Given the description of an element on the screen output the (x, y) to click on. 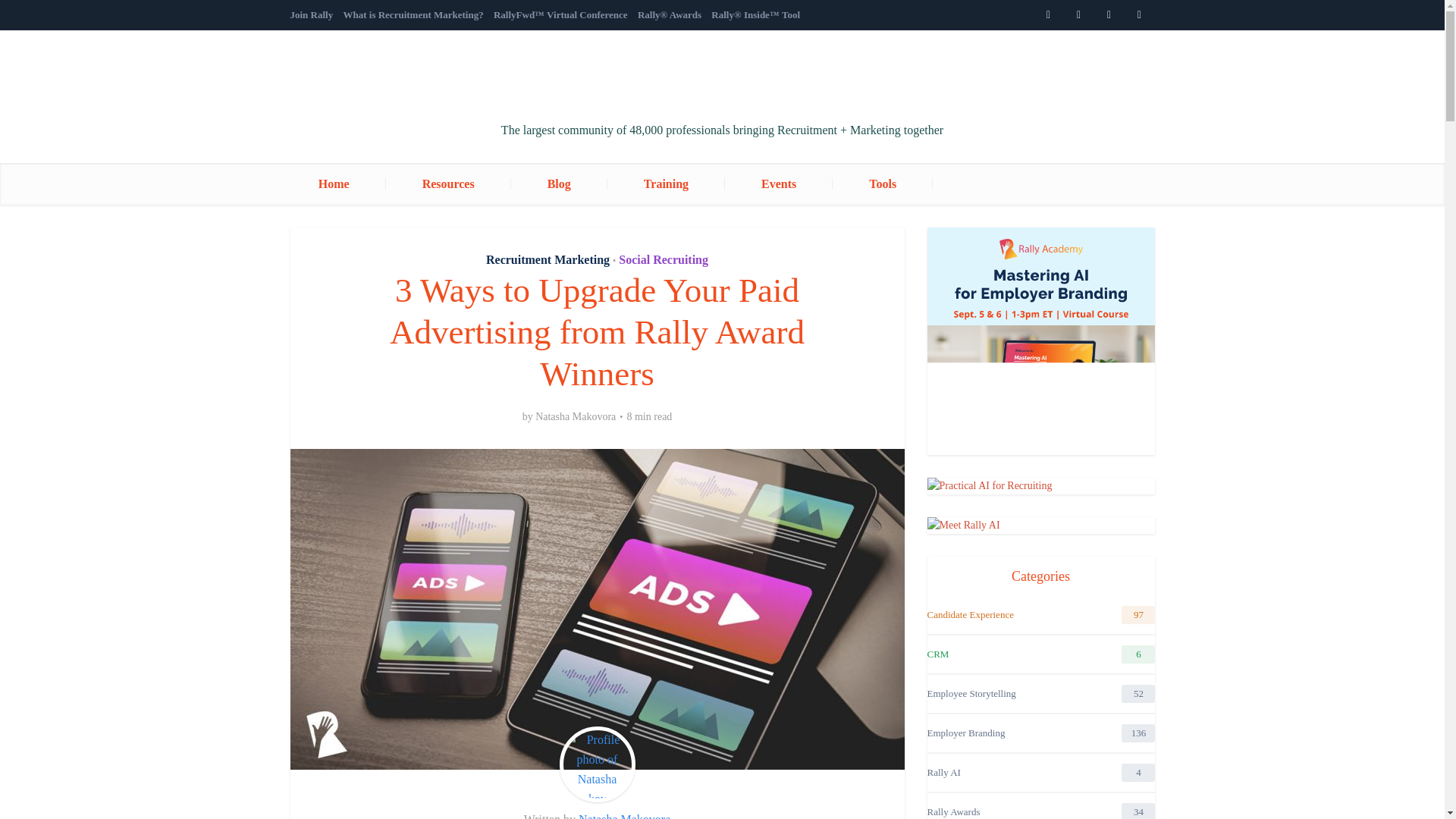
Resources (448, 183)
Natasha Makovora (575, 417)
Natasha Makovora (623, 816)
Home (351, 183)
Blog (559, 183)
Tools (882, 183)
What is Recruitment Marketing? (412, 14)
Training (666, 183)
Events (778, 183)
Social Recruiting (662, 259)
